Given the description of an element on the screen output the (x, y) to click on. 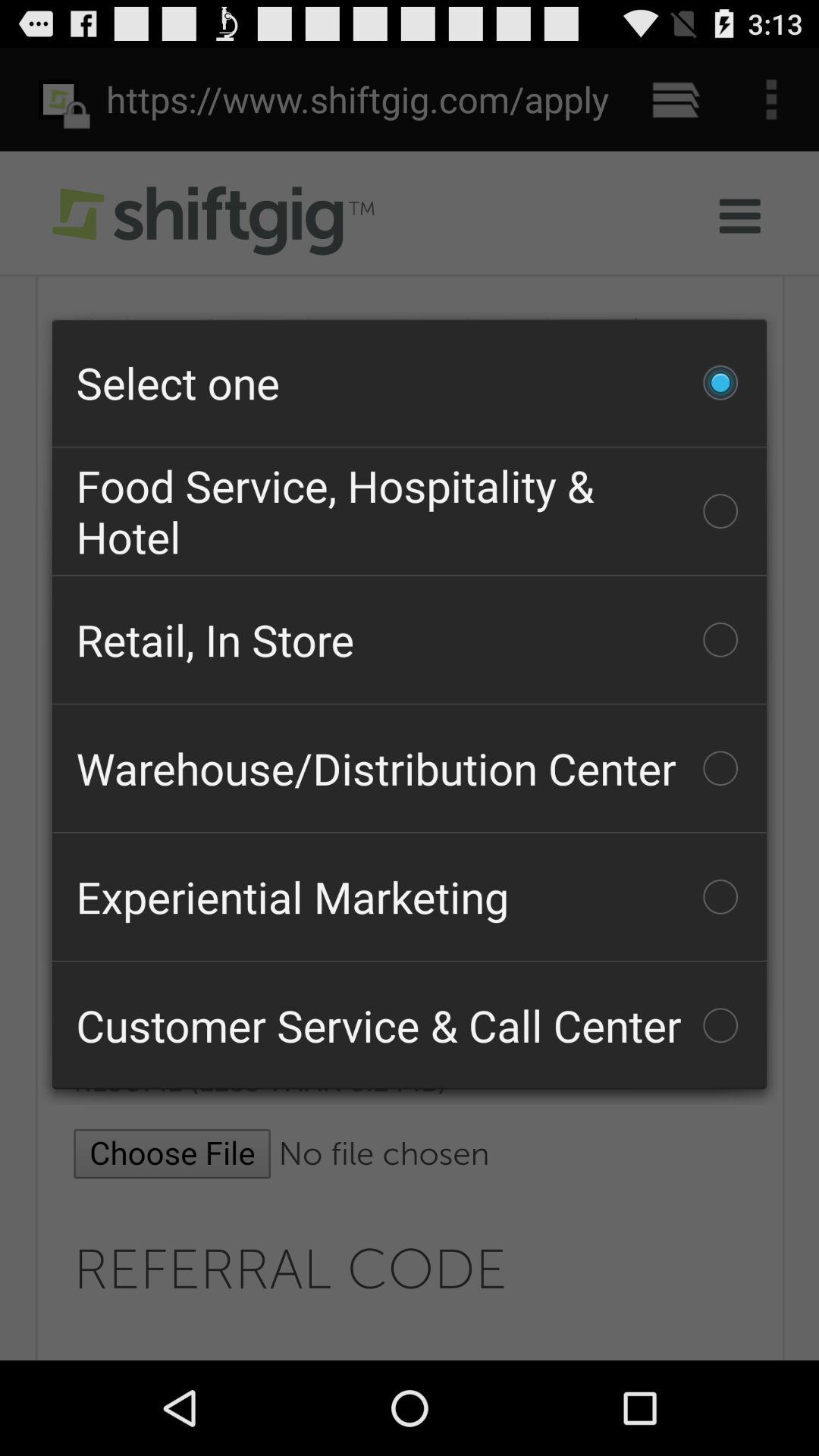
launch the customer service call icon (409, 1025)
